Given the description of an element on the screen output the (x, y) to click on. 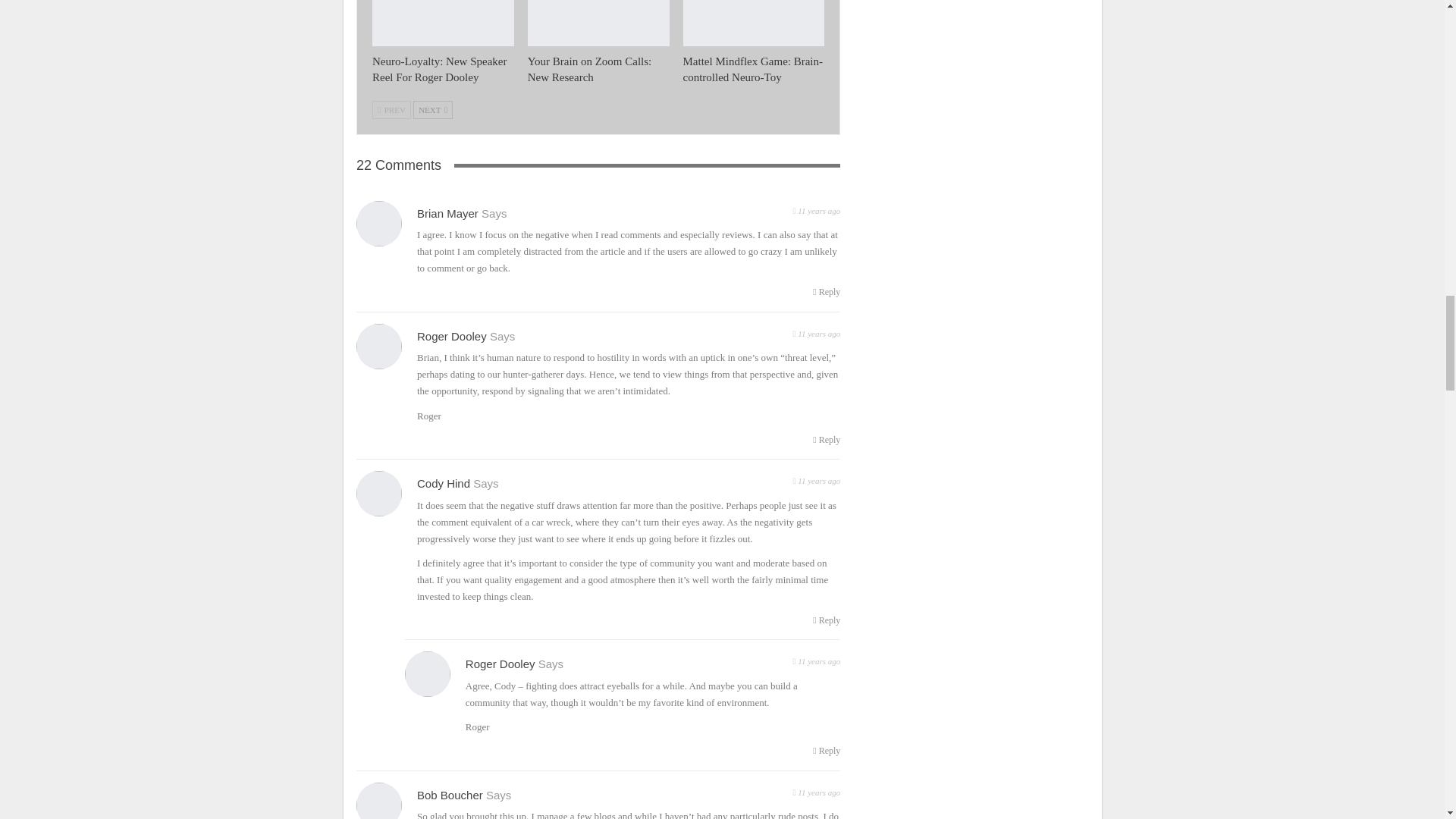
Your Brain on Zoom Calls: New Research (598, 22)
Neuro-Loyalty: New Speaker Reel For Roger Dooley (442, 22)
Neuro-Loyalty: New Speaker Reel For Roger Dooley (439, 69)
